Given the description of an element on the screen output the (x, y) to click on. 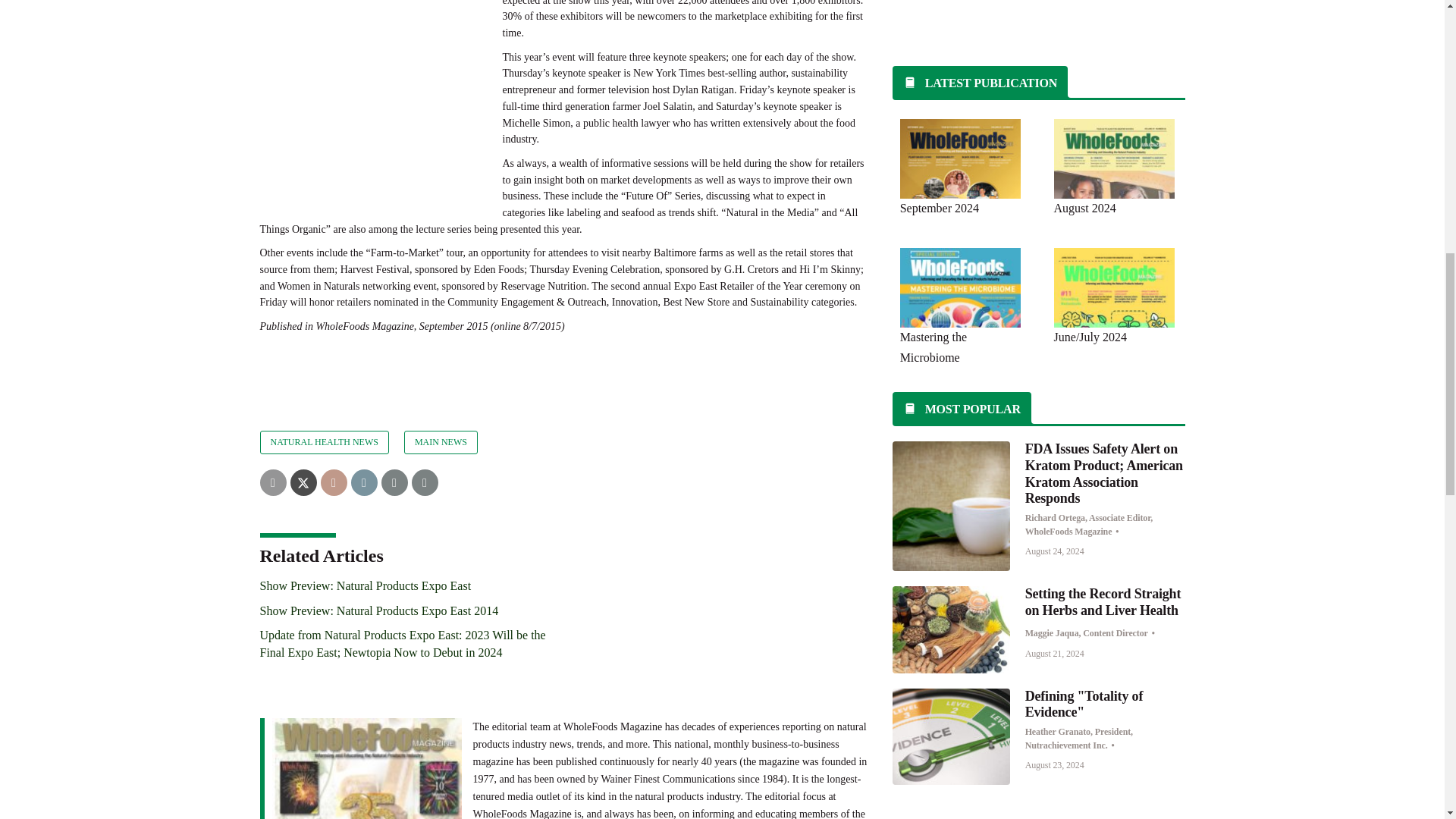
3rd party ad content (1038, 18)
3rd party ad content (372, 90)
